Given the description of an element on the screen output the (x, y) to click on. 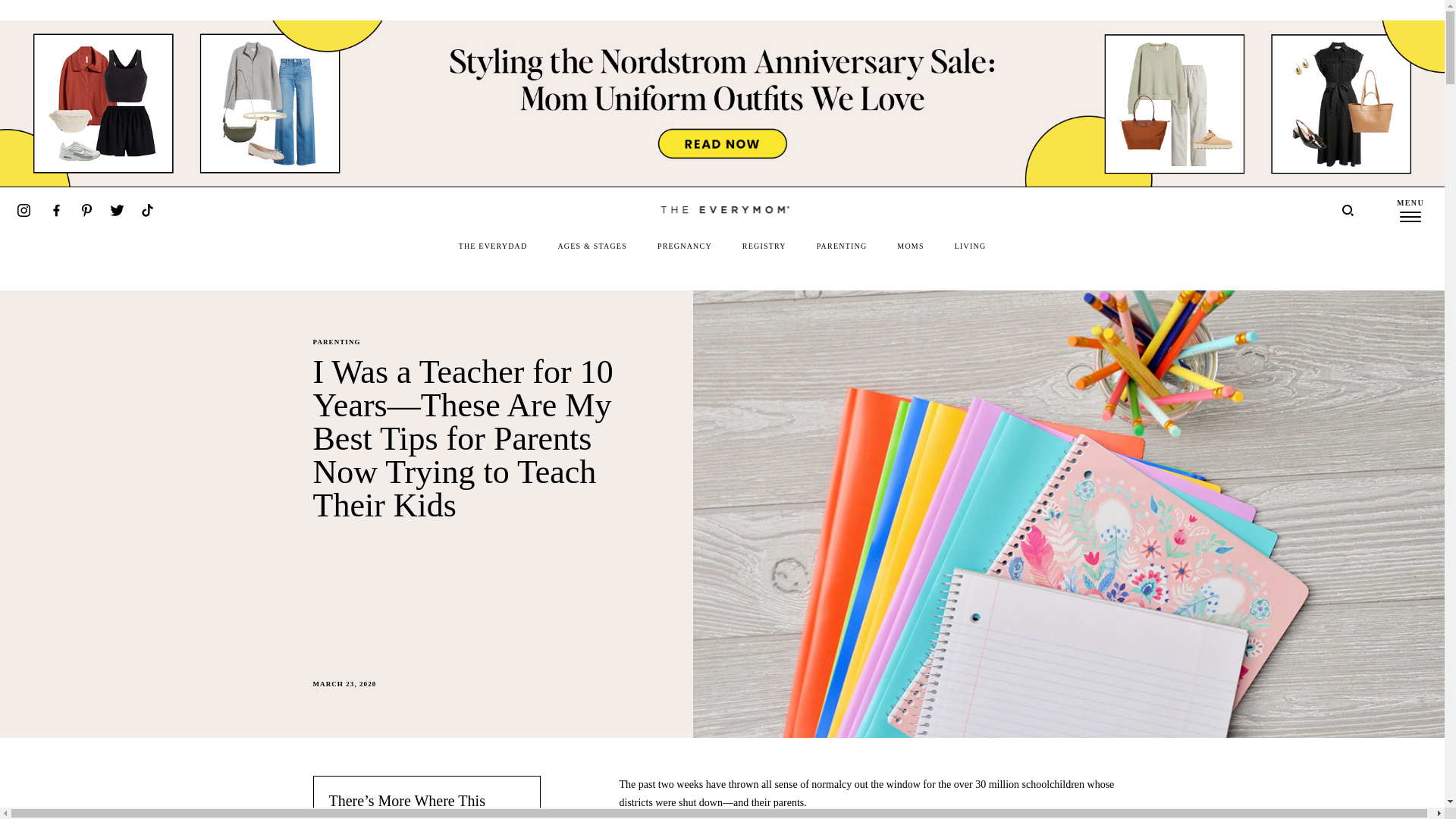
MENU (1409, 209)
REGISTRY (764, 245)
Instagram (23, 210)
The Everymom (721, 209)
PREGNANCY (684, 245)
THE EVERYDAD (492, 245)
